Given the description of an element on the screen output the (x, y) to click on. 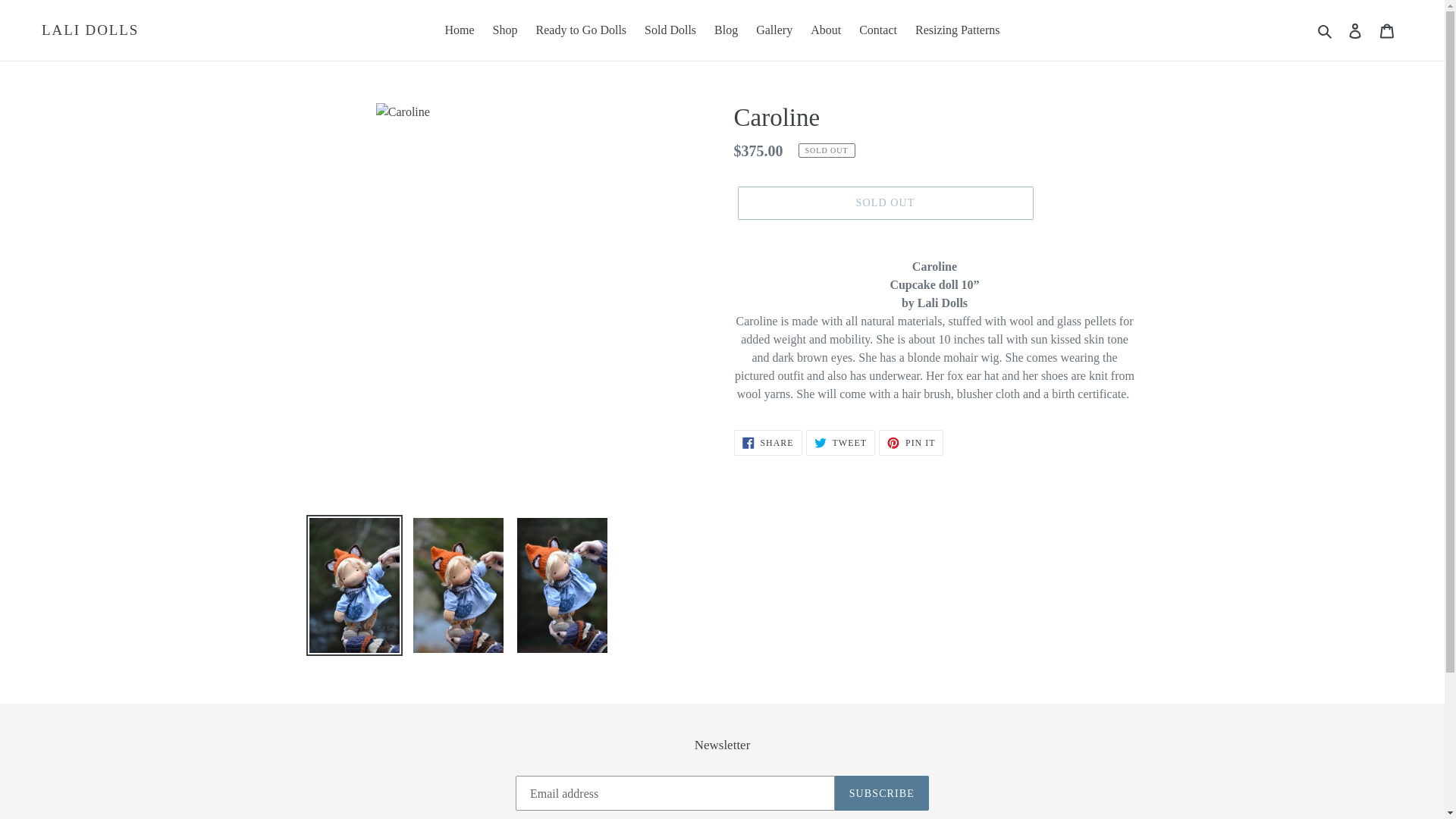
Log in (1355, 29)
Contact (877, 29)
Search (1326, 30)
Ready to Go Dolls (581, 29)
Shop (504, 29)
Gallery (840, 442)
About (773, 29)
Sold Dolls (825, 29)
Cart (670, 29)
